Given the description of an element on the screen output the (x, y) to click on. 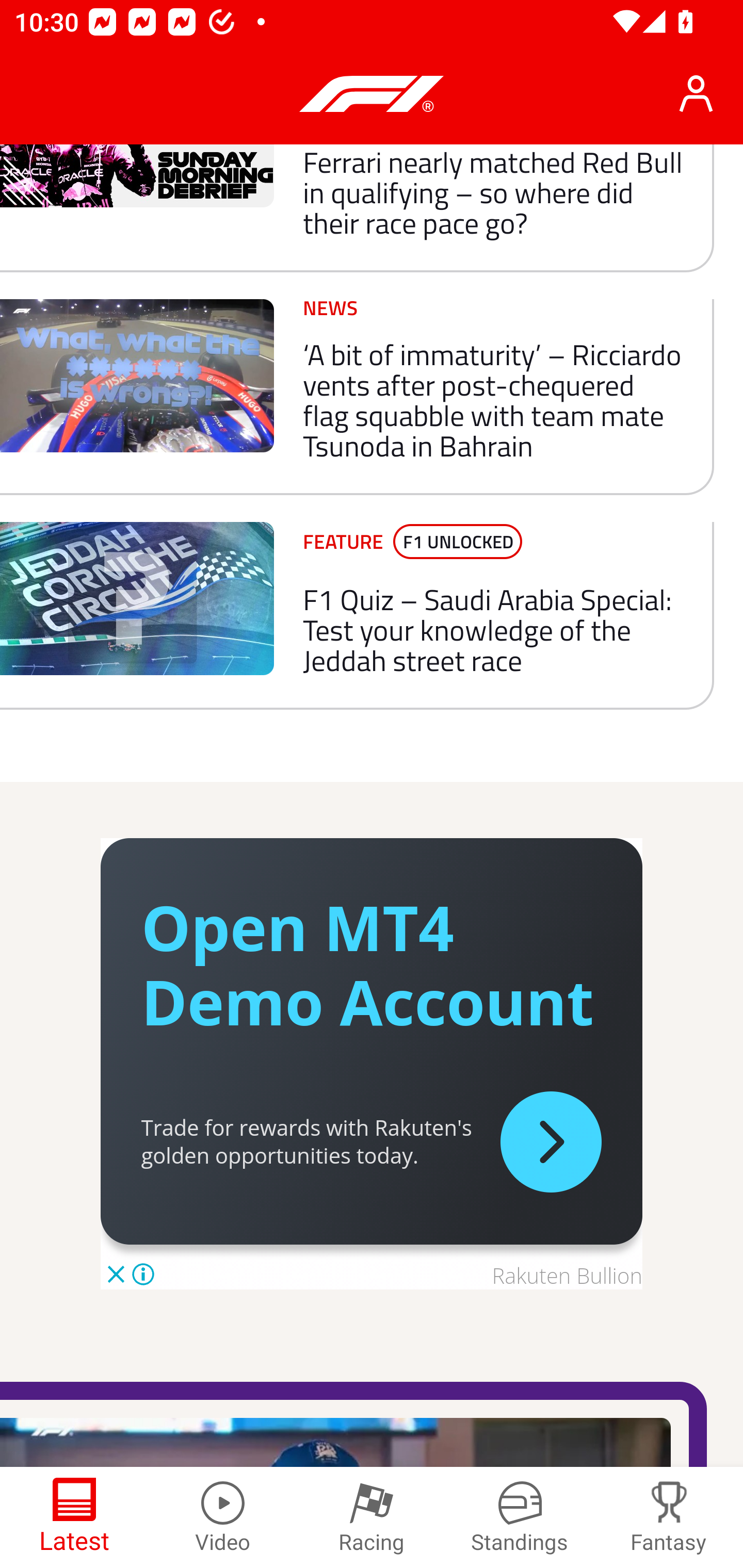
Open MT4 Demo Account Open MT4 Demo Account (367, 963)
Rakuten Bullion (566, 1276)
Video (222, 1517)
Racing (371, 1517)
Standings (519, 1517)
Fantasy (668, 1517)
